Given the description of an element on the screen output the (x, y) to click on. 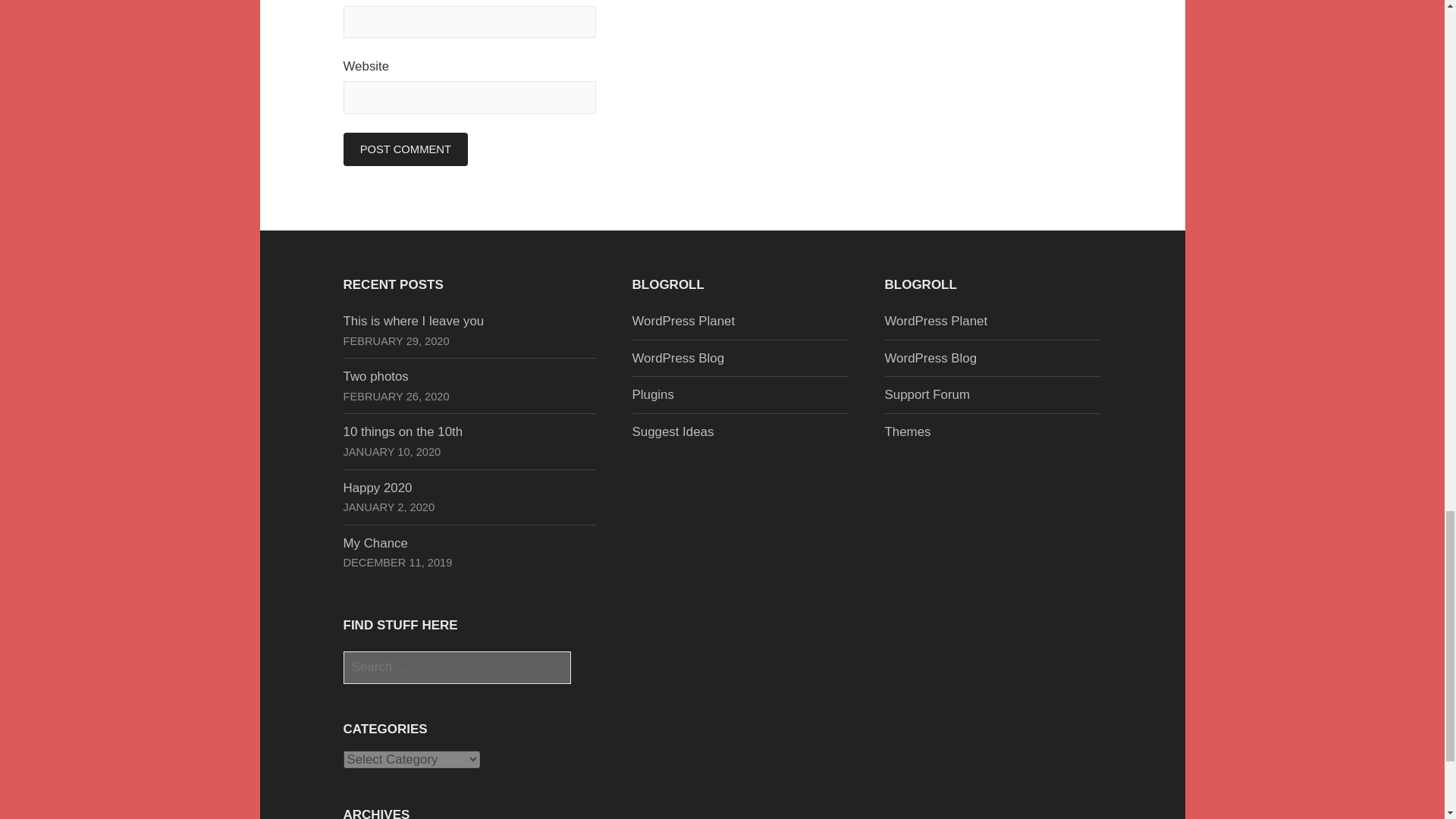
Post Comment (404, 149)
This is where I leave you (412, 320)
Post Comment (404, 149)
